Given the description of an element on the screen output the (x, y) to click on. 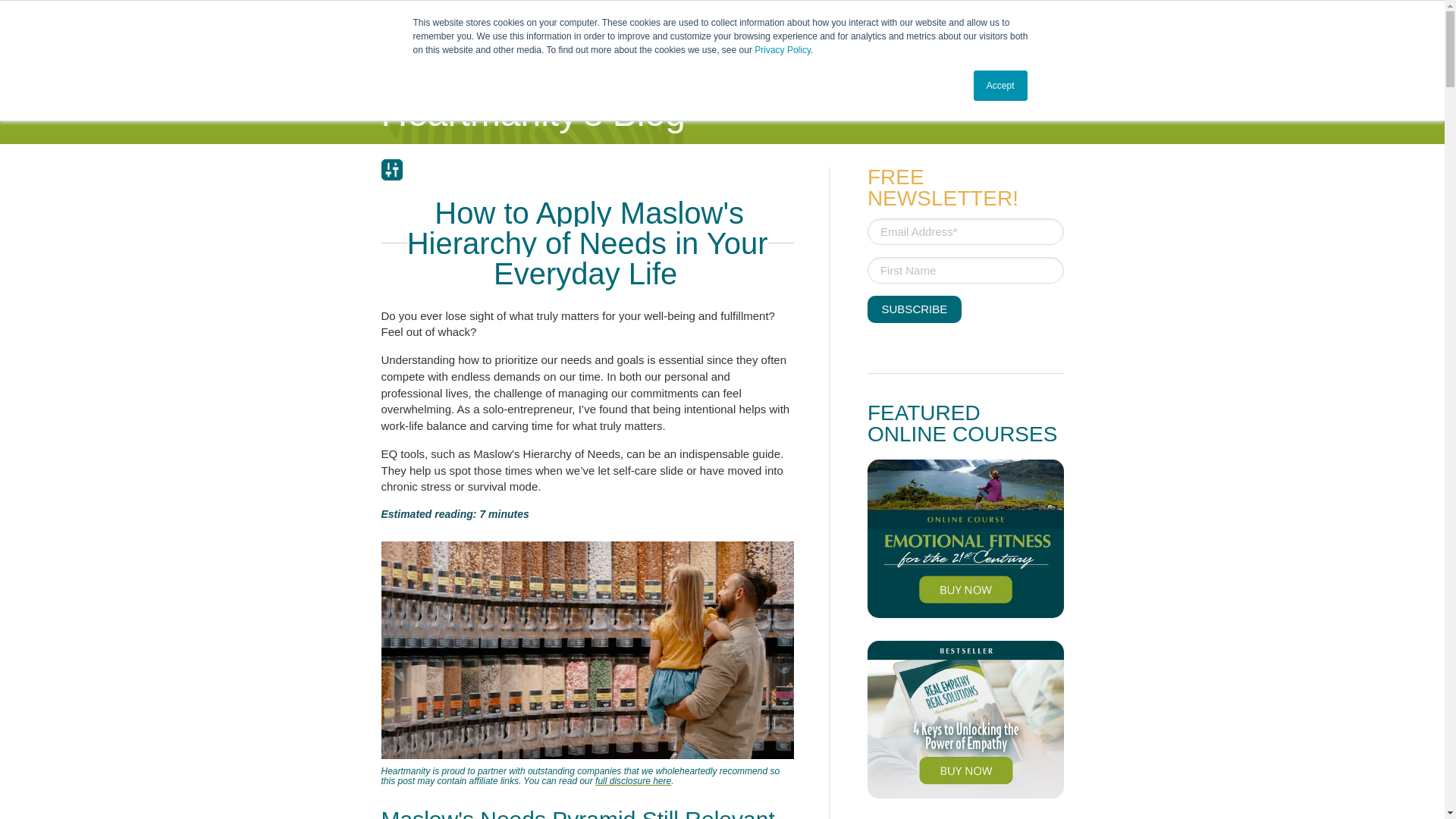
Individuals (643, 76)
Subscribe Now (913, 308)
Professionals (921, 76)
4 Keys to Unlocking the Power of Empathy (965, 719)
Our Focus and Expertise (493, 76)
Get In Touch (1218, 25)
Accept (1000, 85)
Online Course - Emotional Fitness for the 21st Century (965, 538)
Heartmanity (226, 48)
Privacy Policy (782, 50)
Schedule a Conversation (1018, 25)
Resources (1032, 76)
Parents (820, 76)
Shop (1120, 25)
Blog (1114, 76)
